Given the description of an element on the screen output the (x, y) to click on. 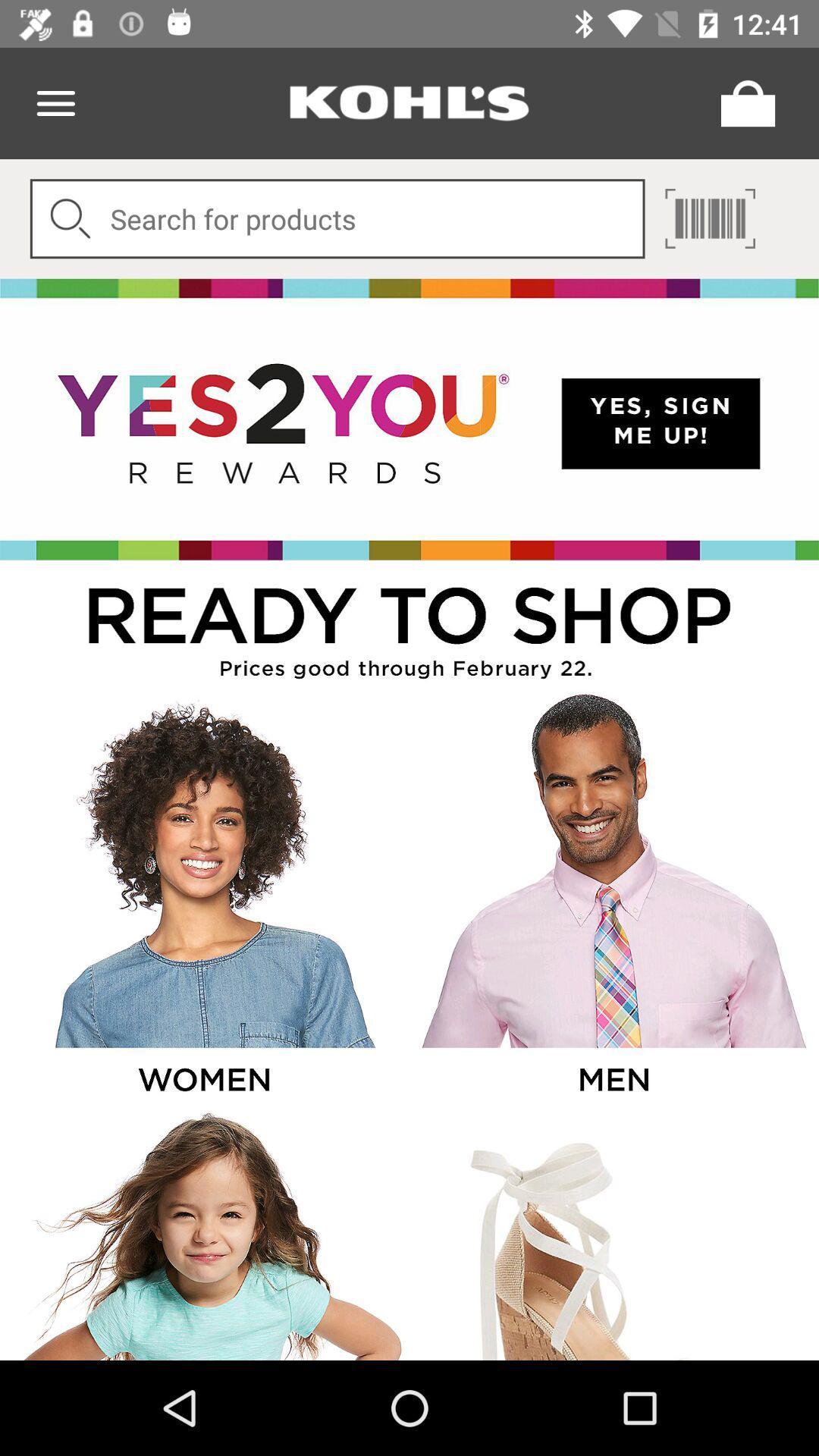
menu icon (55, 103)
